Given the description of an element on the screen output the (x, y) to click on. 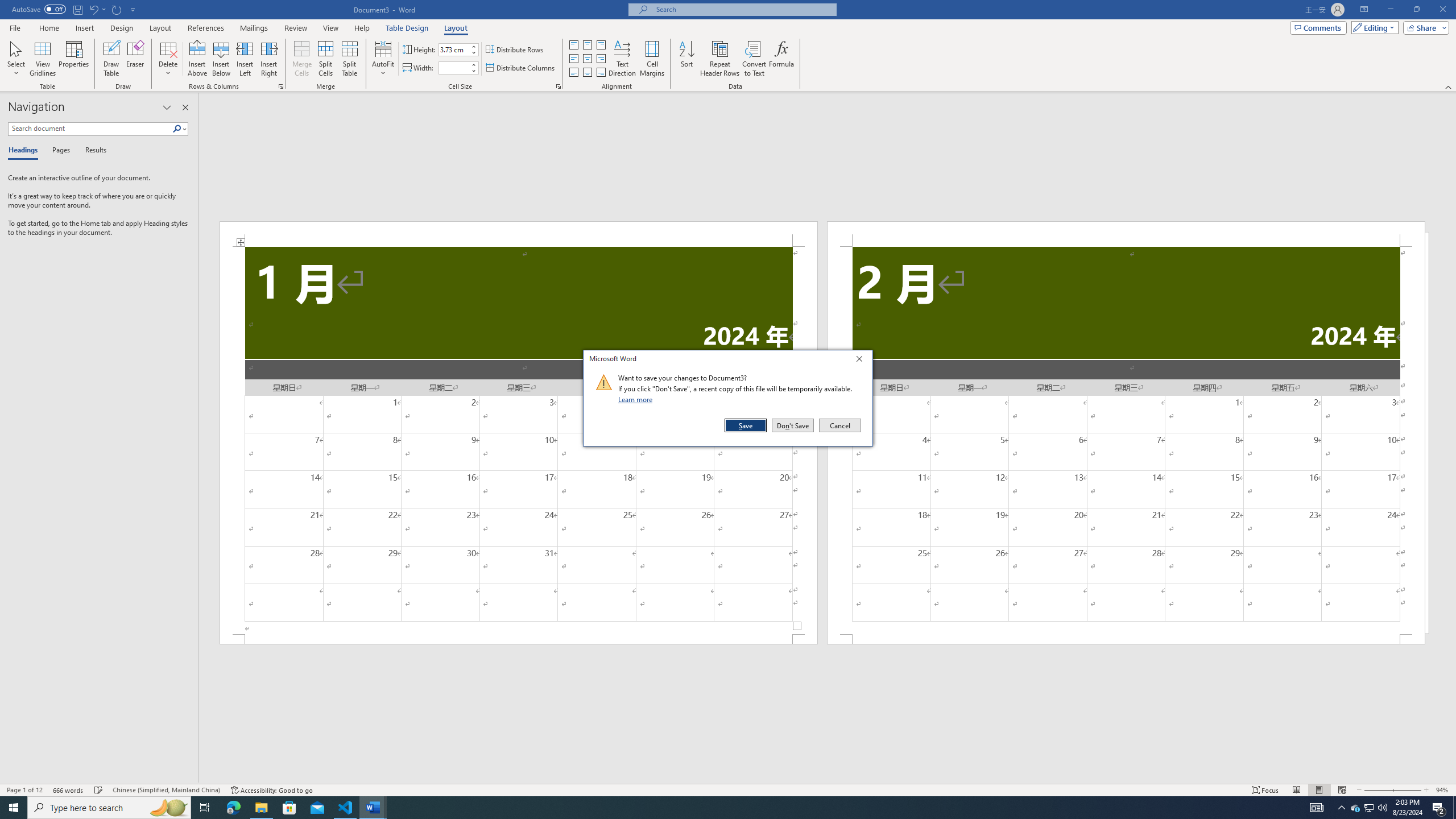
View Gridlines (1355, 807)
Split Table (1368, 807)
Align Top Center (42, 58)
Start (349, 58)
Insert Above (587, 44)
Word Count 666 words (13, 807)
Page Number Page 1 of 12 (196, 58)
Delete (68, 790)
